Given the description of an element on the screen output the (x, y) to click on. 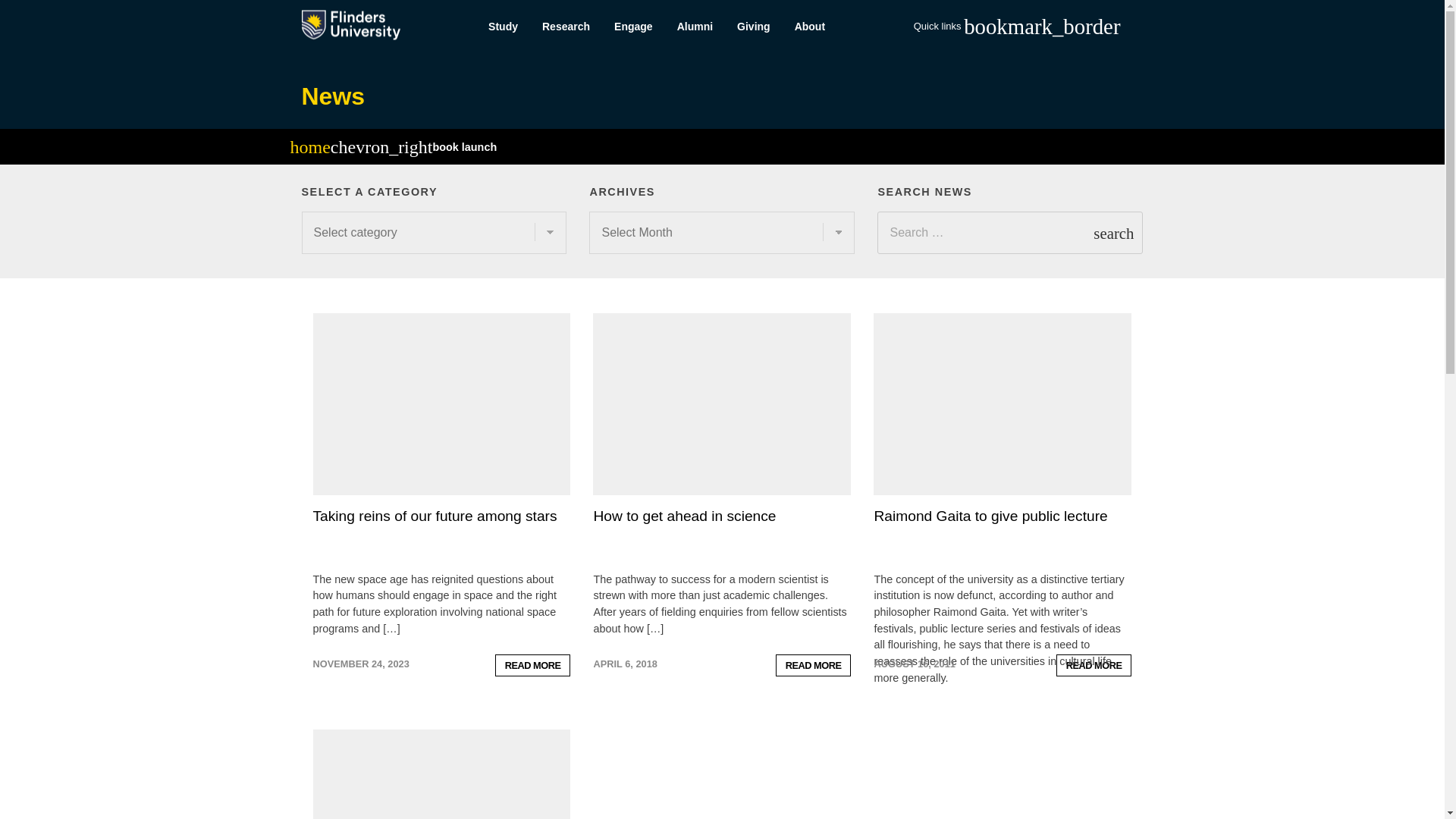
READ MORE (813, 665)
About (810, 26)
READ MORE (1094, 665)
home (309, 149)
Alumni (695, 26)
News (333, 95)
Study (502, 26)
Research (565, 26)
Raimond Gaita to give public lecture (989, 515)
Taking reins of our future among stars (434, 515)
Engage (633, 26)
How to get ahead in science (684, 515)
READ MORE (532, 665)
Giving (754, 26)
search (1113, 232)
